Given the description of an element on the screen output the (x, y) to click on. 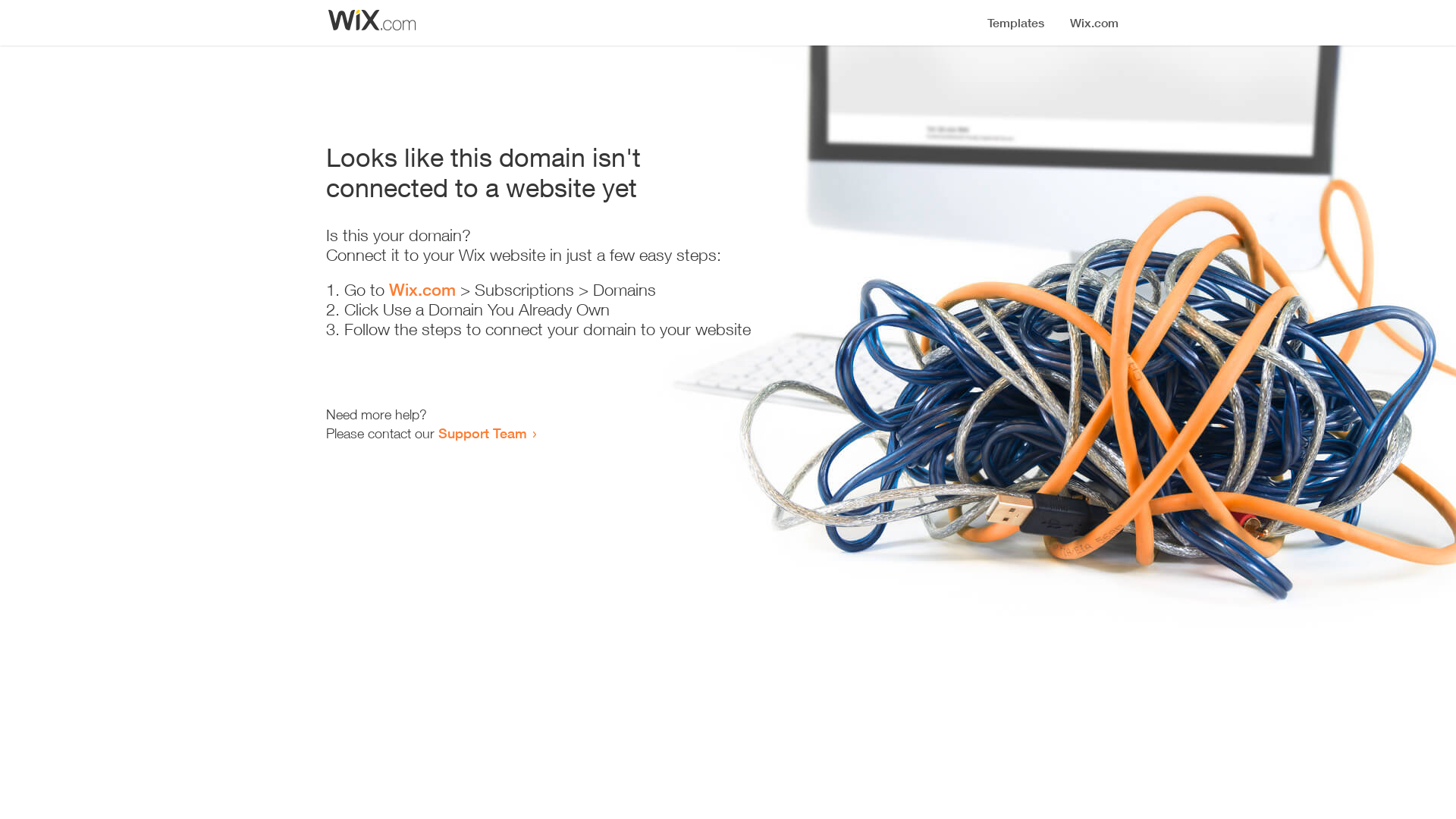
Support Team Element type: text (482, 432)
Wix.com Element type: text (422, 289)
